Given the description of an element on the screen output the (x, y) to click on. 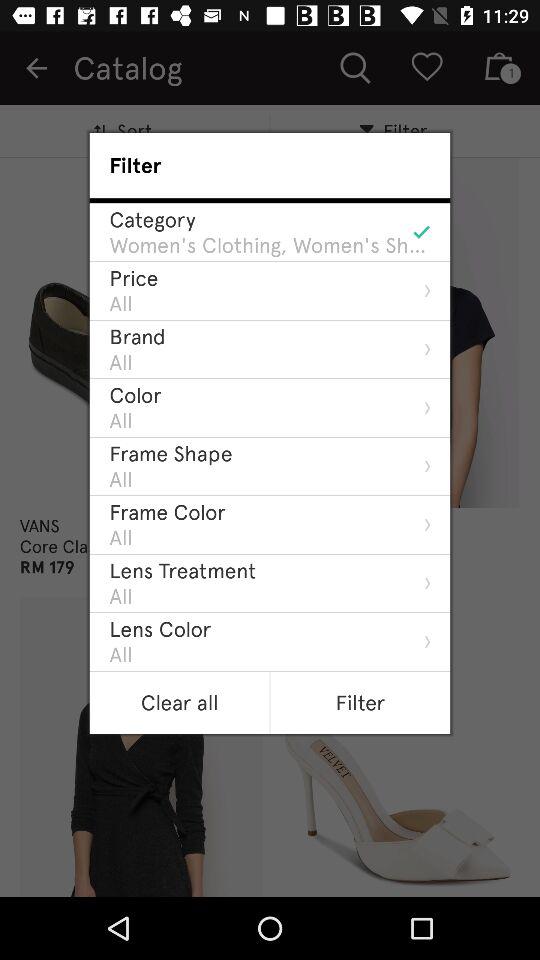
click the item below the all icon (170, 453)
